Given the description of an element on the screen output the (x, y) to click on. 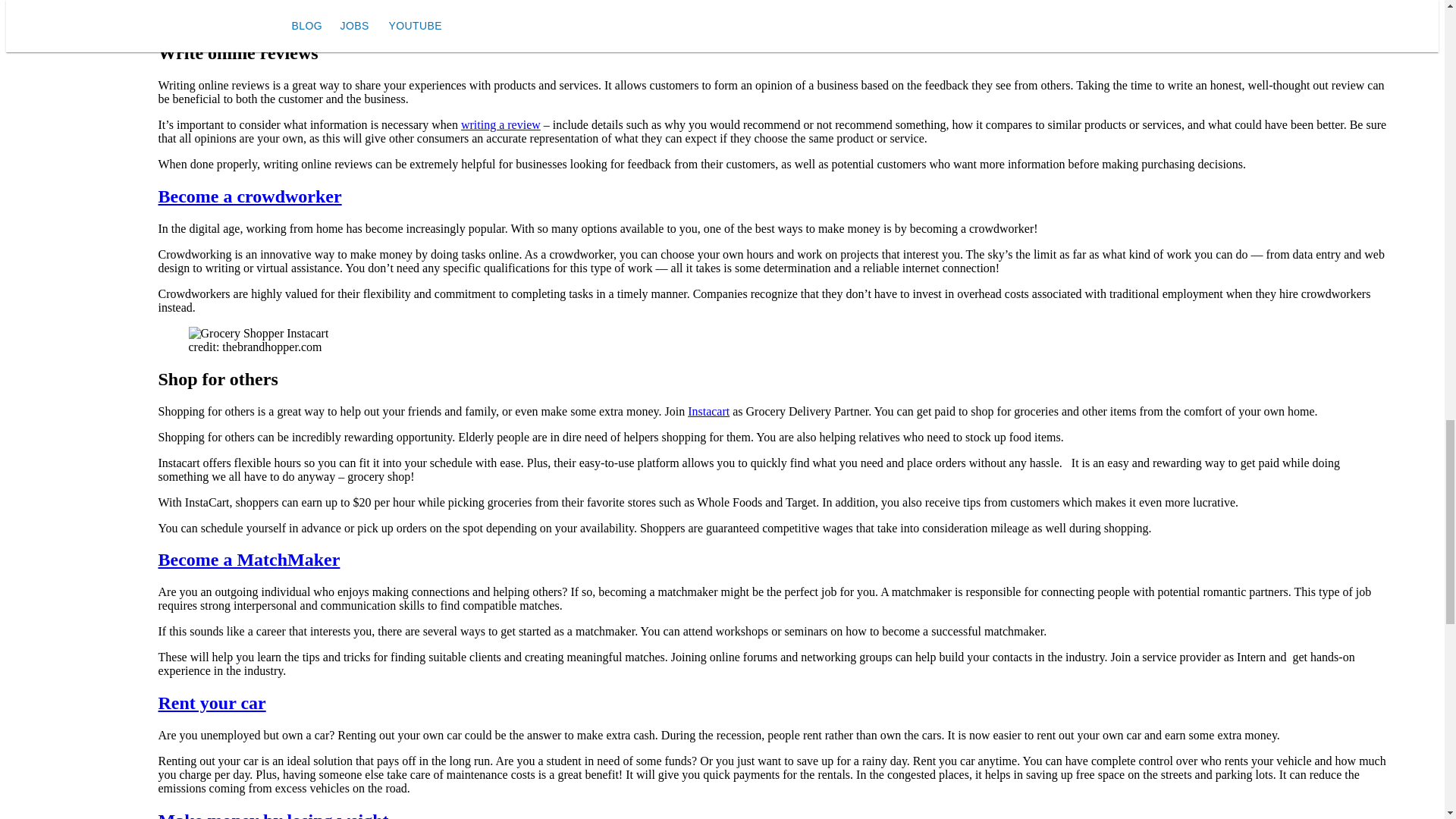
Instacart (708, 410)
Rent your car (210, 702)
Become a MatchMaker (248, 559)
writing a review (500, 124)
Become a crowdworker (248, 196)
Make money by losing weight (272, 814)
